Given the description of an element on the screen output the (x, y) to click on. 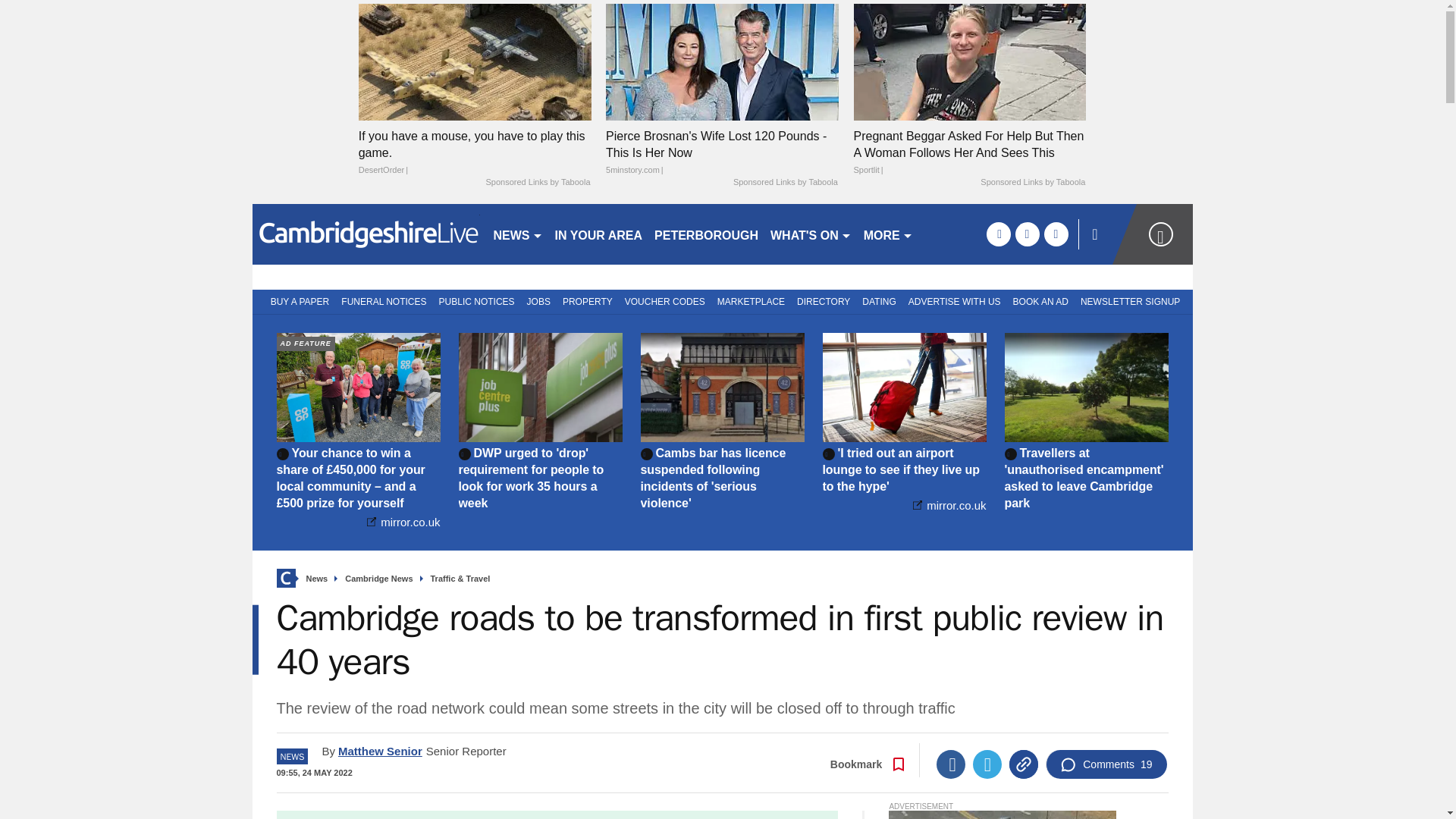
twitter (1026, 233)
Twitter (986, 764)
instagram (1055, 233)
Sponsored Links by Taboola (1031, 182)
Comments (1105, 764)
NEWS (517, 233)
Pierce Brosnan's Wife Lost 120 Pounds - This Is Her Now (721, 152)
IN YOUR AREA (598, 233)
WHAT'S ON (810, 233)
Sponsored Links by Taboola (536, 182)
Pierce Brosnan's Wife Lost 120 Pounds - This Is Her Now (721, 61)
facebook (997, 233)
